Given the description of an element on the screen output the (x, y) to click on. 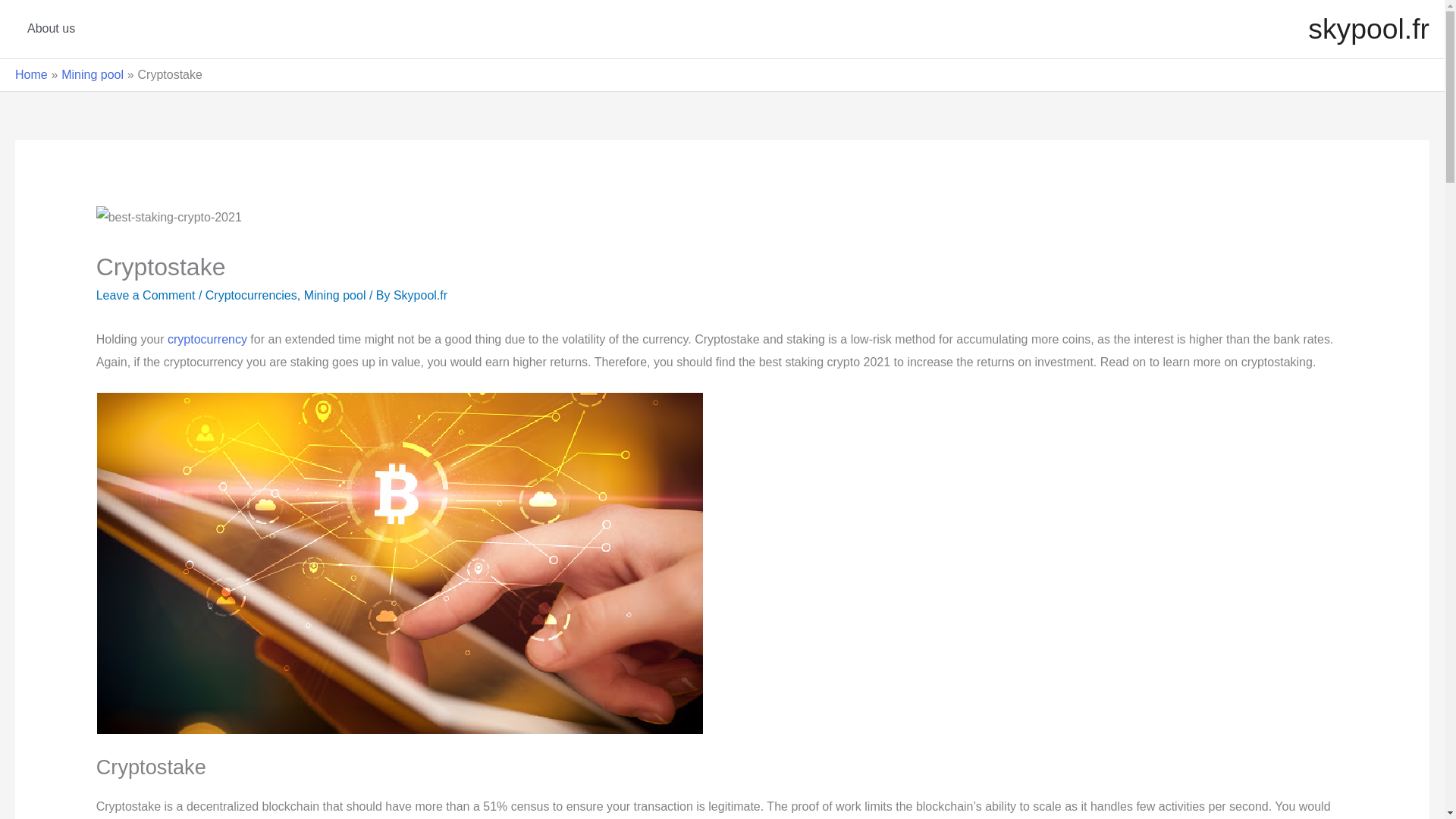
Skypool.fr (419, 295)
About us (50, 29)
Cryptocurrencies (251, 295)
skypool.fr (1368, 29)
cryptocurrency (207, 338)
Leave a Comment (145, 295)
Home (31, 74)
Mining pool (335, 295)
View all posts by Skypool.fr (419, 295)
Mining pool (92, 74)
